Given the description of an element on the screen output the (x, y) to click on. 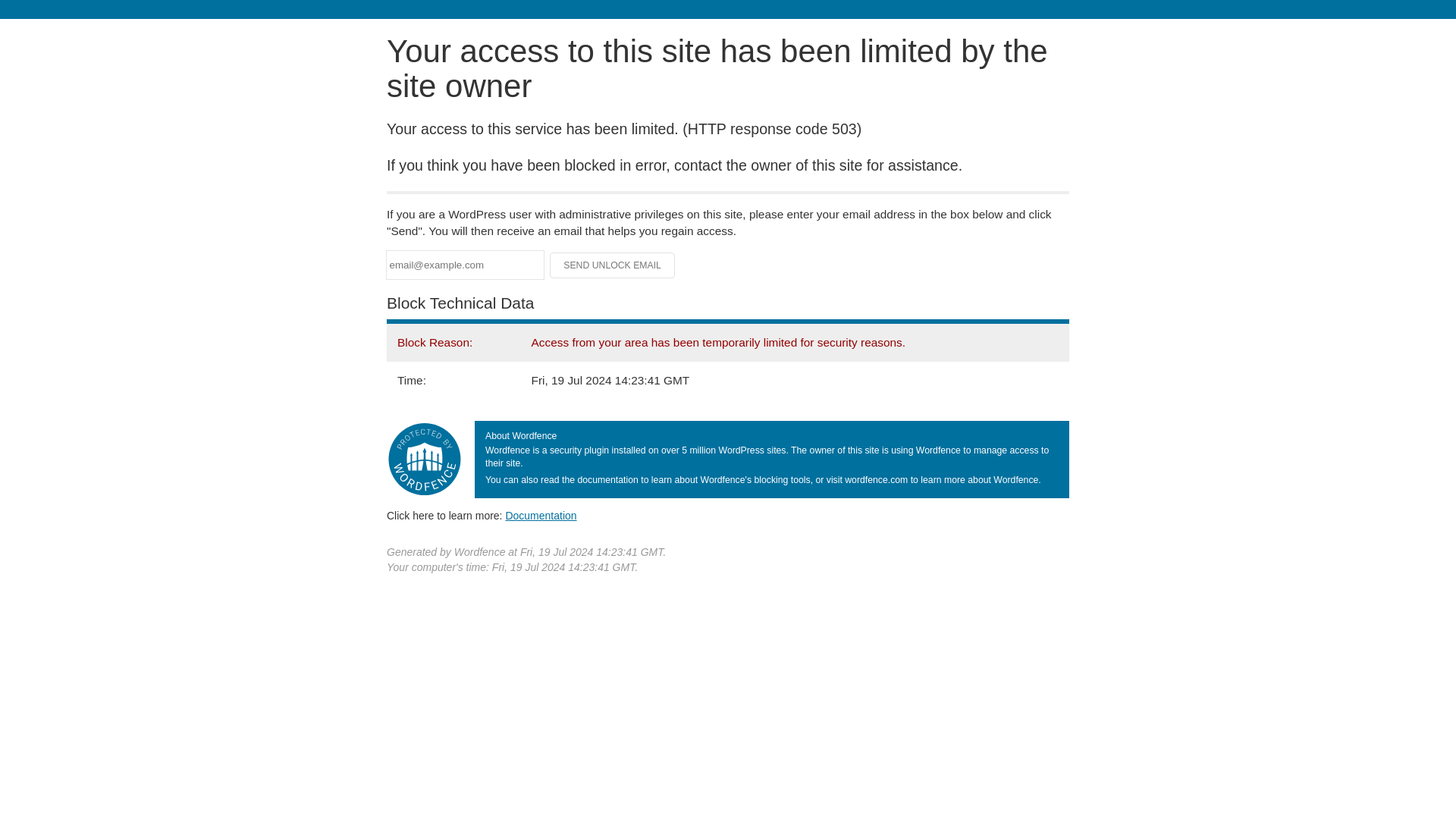
Documentation (540, 515)
Send Unlock Email (612, 265)
Send Unlock Email (612, 265)
